Given the description of an element on the screen output the (x, y) to click on. 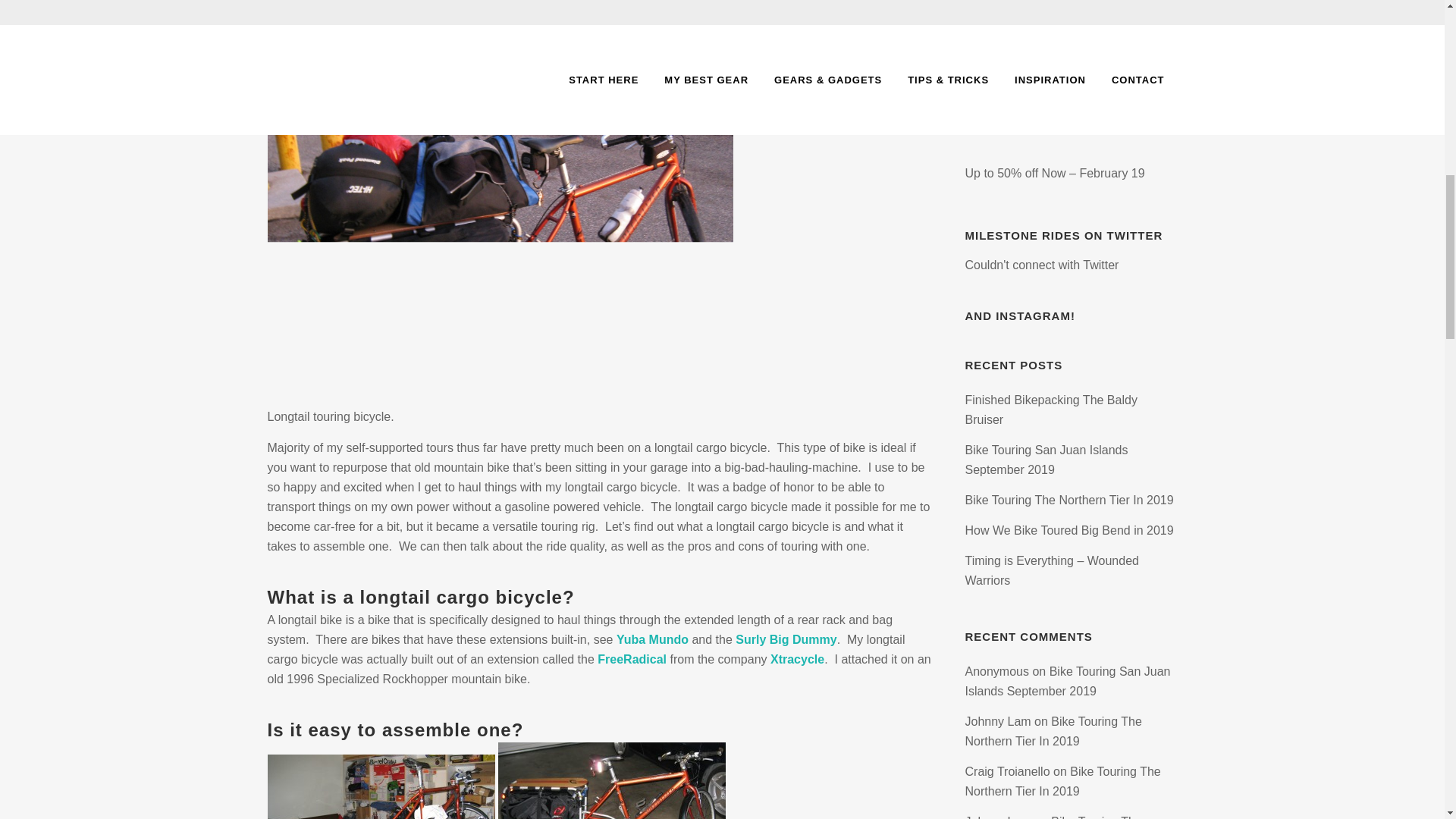
Surly Big Dummy (785, 639)
Yuba Mundo (651, 639)
Xtracycle FreeRadical (631, 658)
Johnny Lam (432, 3)
FreeRadical (631, 658)
Share (641, 3)
0 Likes (591, 3)
Xtracycle (797, 658)
Yuba Mundo (651, 639)
0 Comments (517, 3)
